Given the description of an element on the screen output the (x, y) to click on. 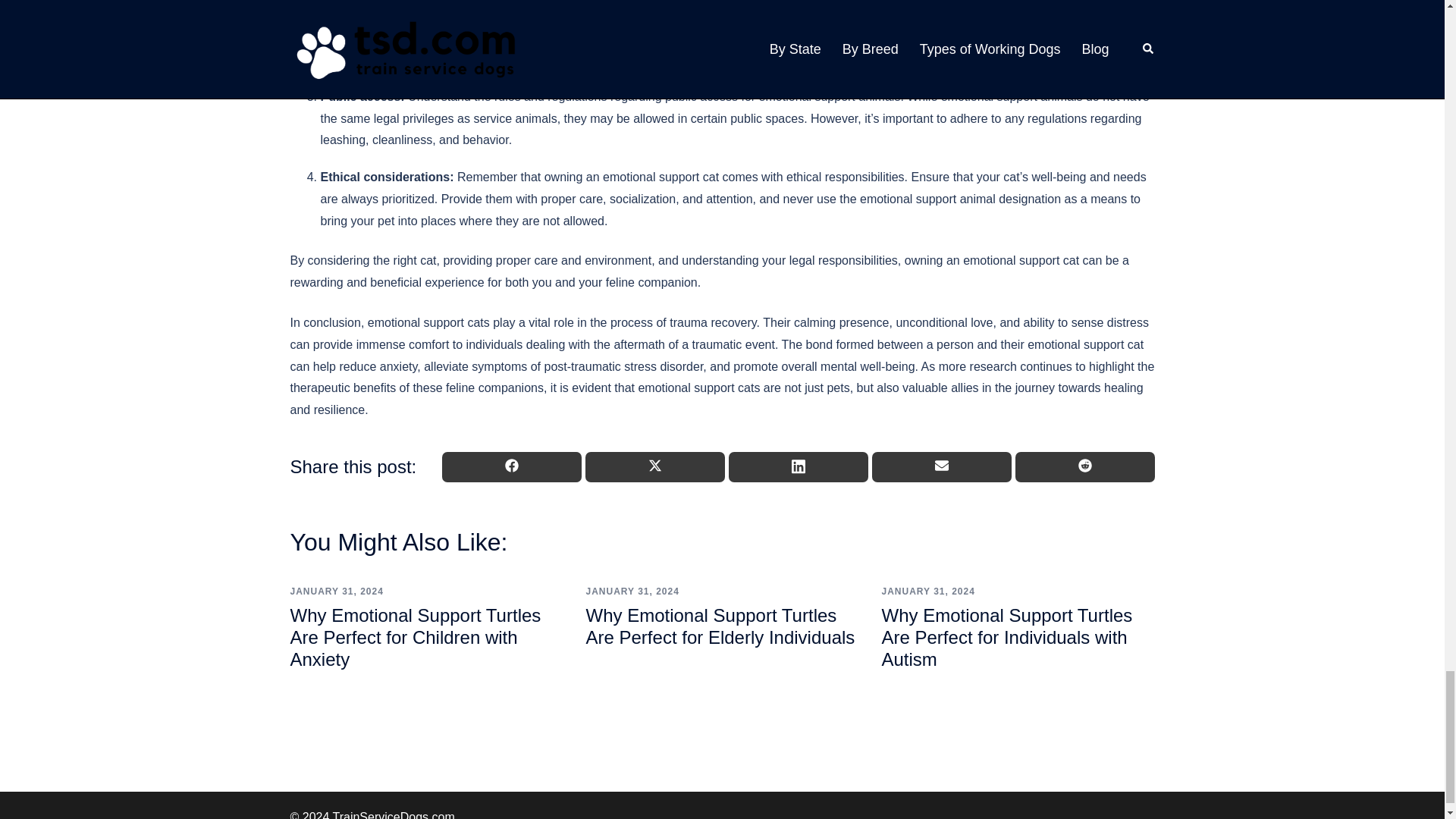
JANUARY 31, 2024 (927, 591)
JANUARY 31, 2024 (631, 591)
JANUARY 31, 2024 (335, 591)
